Given the description of an element on the screen output the (x, y) to click on. 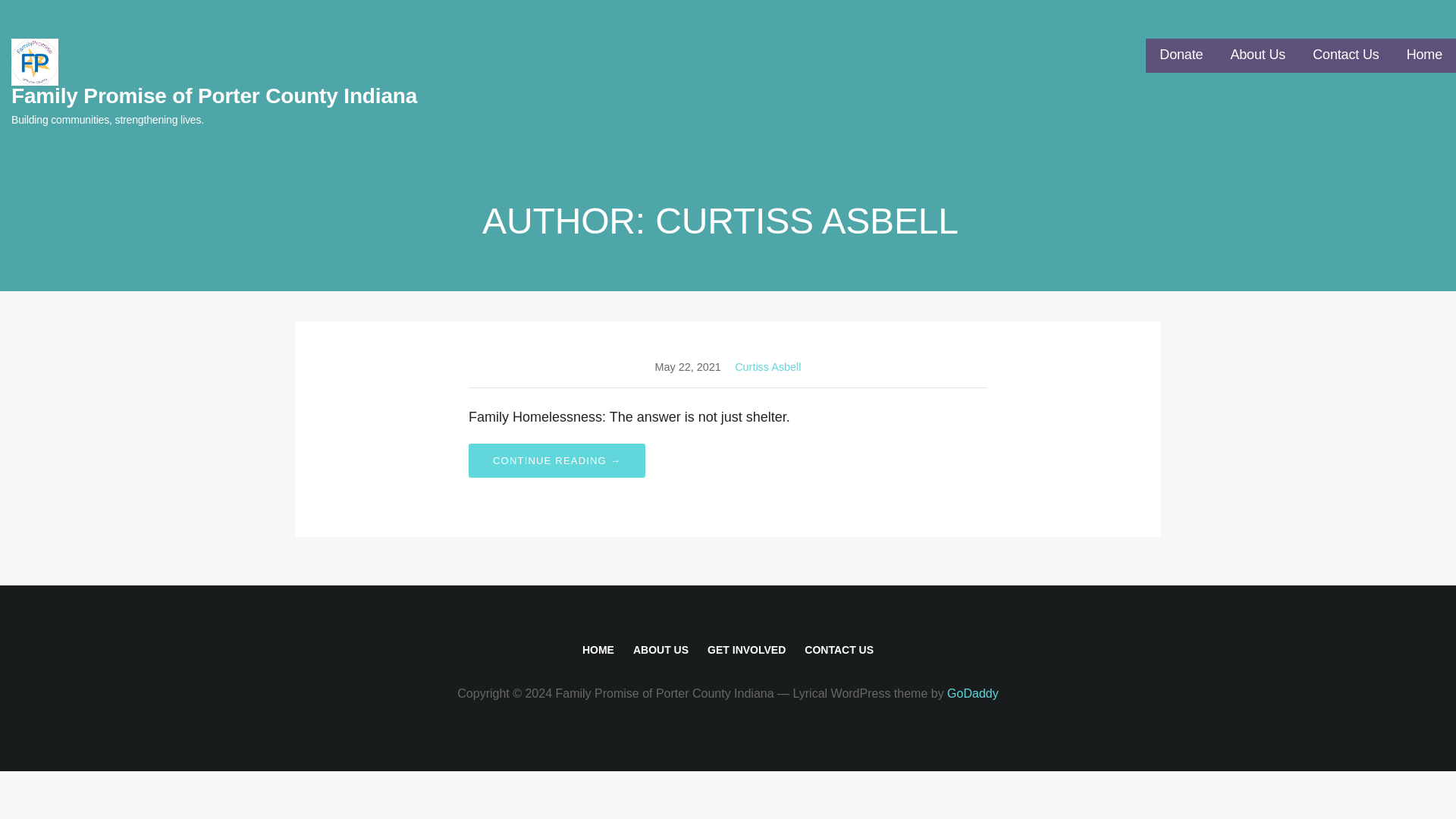
Contact Us (1345, 55)
GET INVOLVED (746, 649)
Curtiss Asbell (767, 367)
ABOUT US (660, 649)
Posts by Curtiss Asbell (767, 367)
Home (1424, 55)
Family Promise of Porter County Indiana (213, 95)
CONTACT US (839, 649)
GoDaddy (972, 693)
About Us (1257, 55)
Donate (1180, 55)
HOME (598, 649)
